Given the description of an element on the screen output the (x, y) to click on. 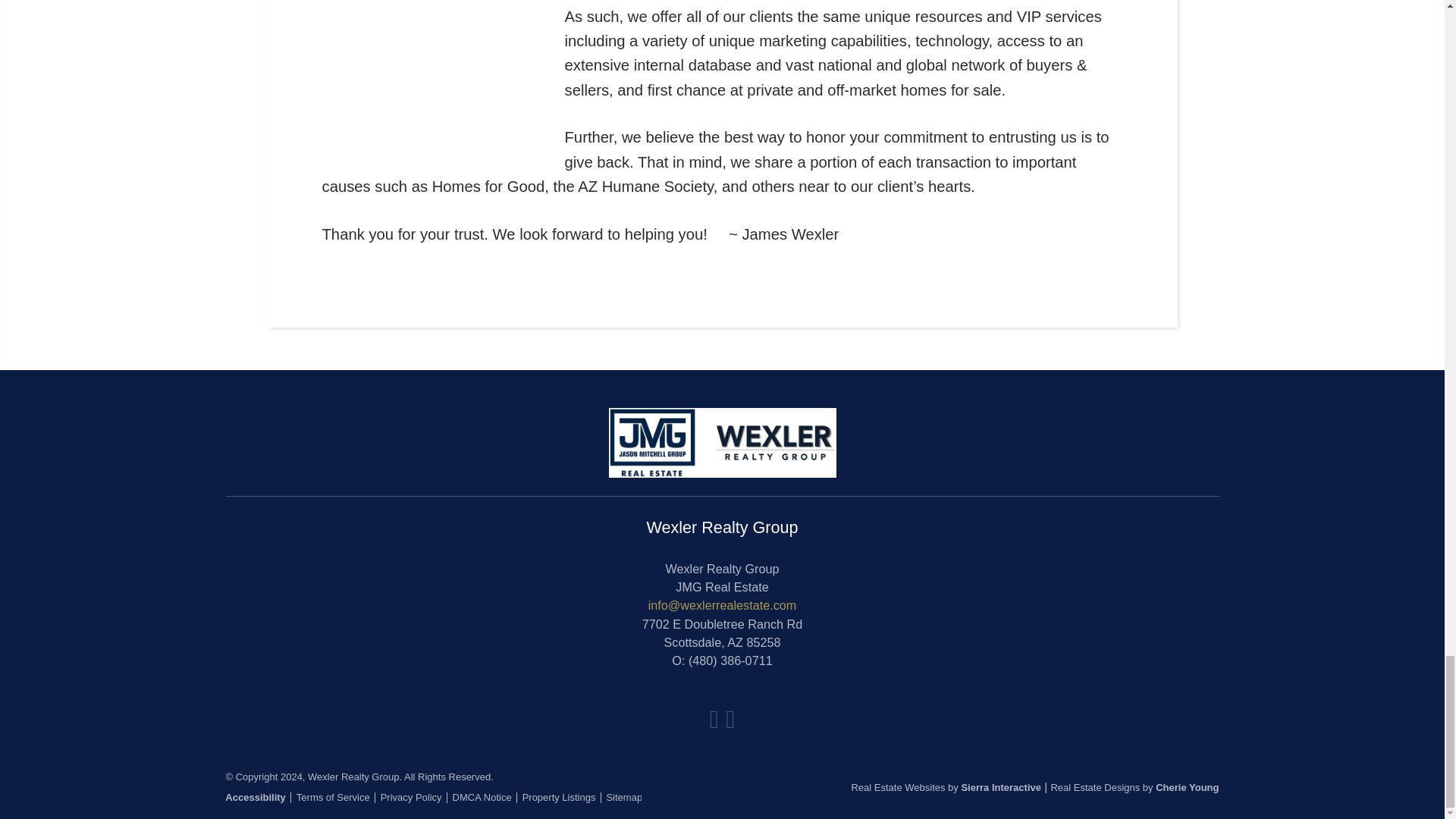
Home Page (721, 440)
